Given the description of an element on the screen output the (x, y) to click on. 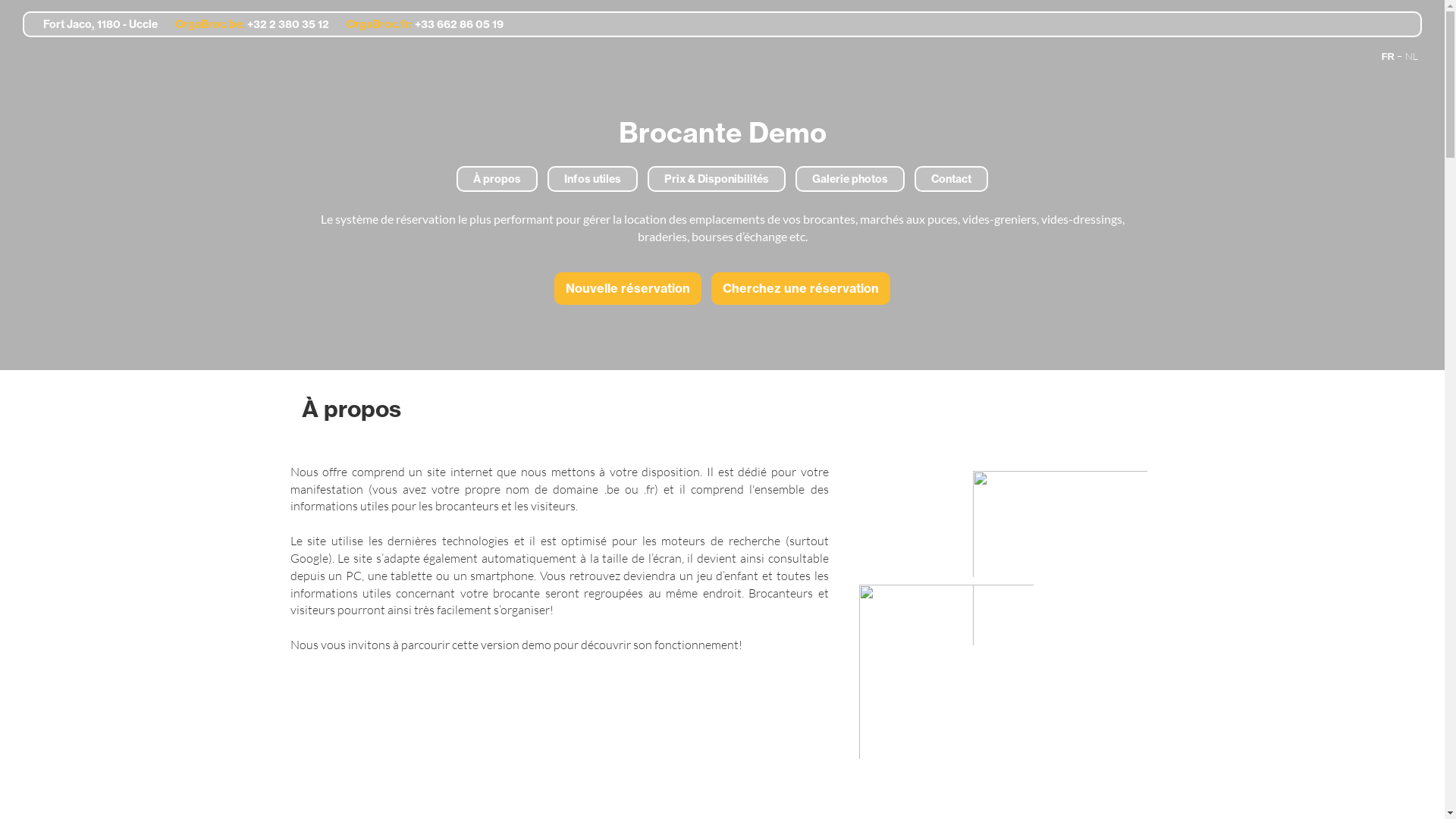
OrgaBroc.fr: +33 662 86 05 19 Element type: text (417, 24)
Contact Element type: text (951, 178)
NL Element type: text (1411, 56)
Galerie photos Element type: text (849, 178)
OrgaBroc.be: +32 2 380 35 12 Element type: text (245, 24)
Infos utiles Element type: text (592, 178)
Fort Jaco, 1180 - Uccle Element type: text (94, 24)
